Given the description of an element on the screen output the (x, y) to click on. 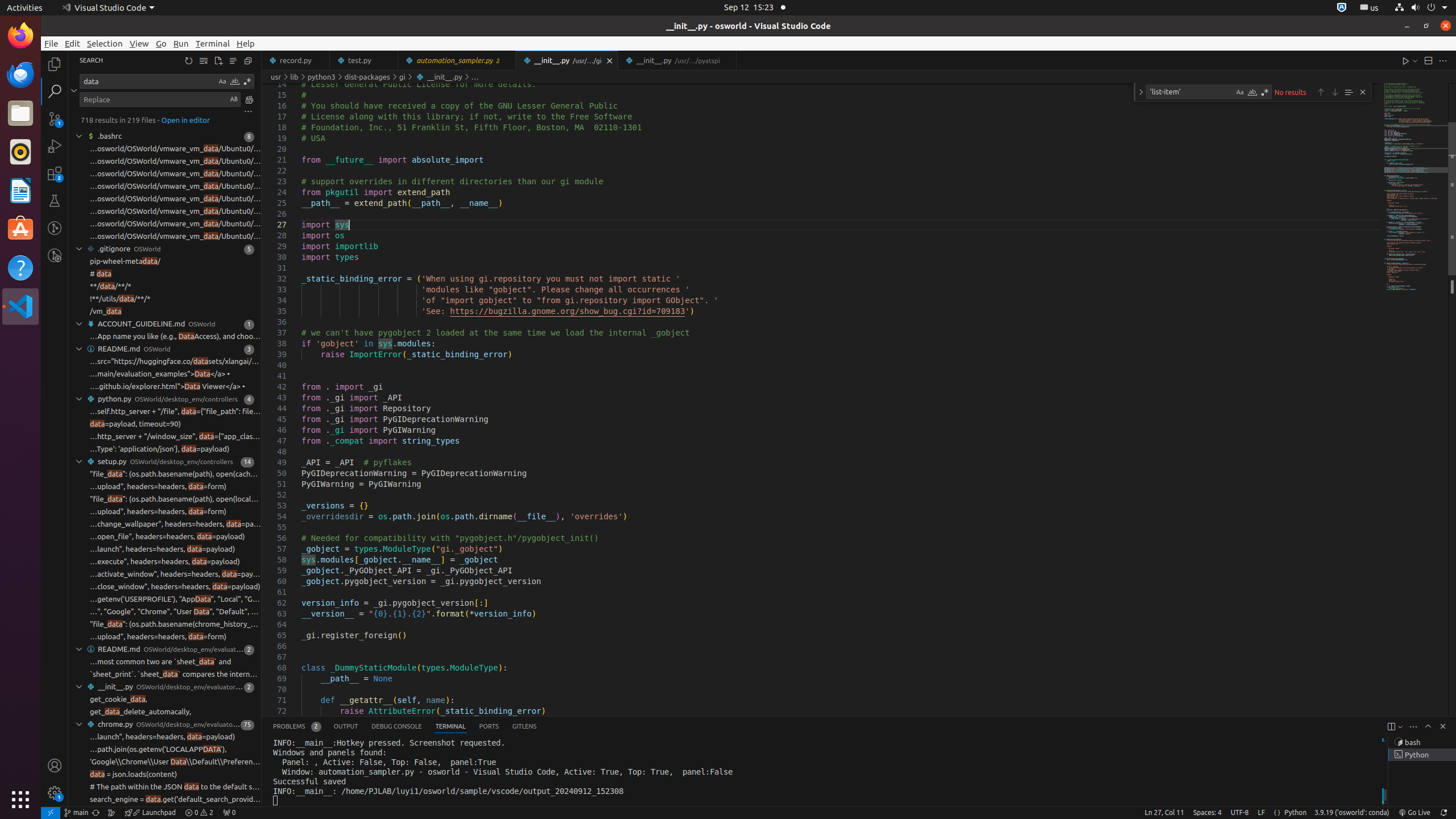
Hide Panel Element type: push-button (1442, 726)
…change_wallpaper", headers=headers, data=payload) Element type: link (175, 523)
Match Case (Alt+C) Element type: check-box (1239, 91)
' get_cookie_data,' at column 16 found data Element type: tree-item (164, 698)
